Given the description of an element on the screen output the (x, y) to click on. 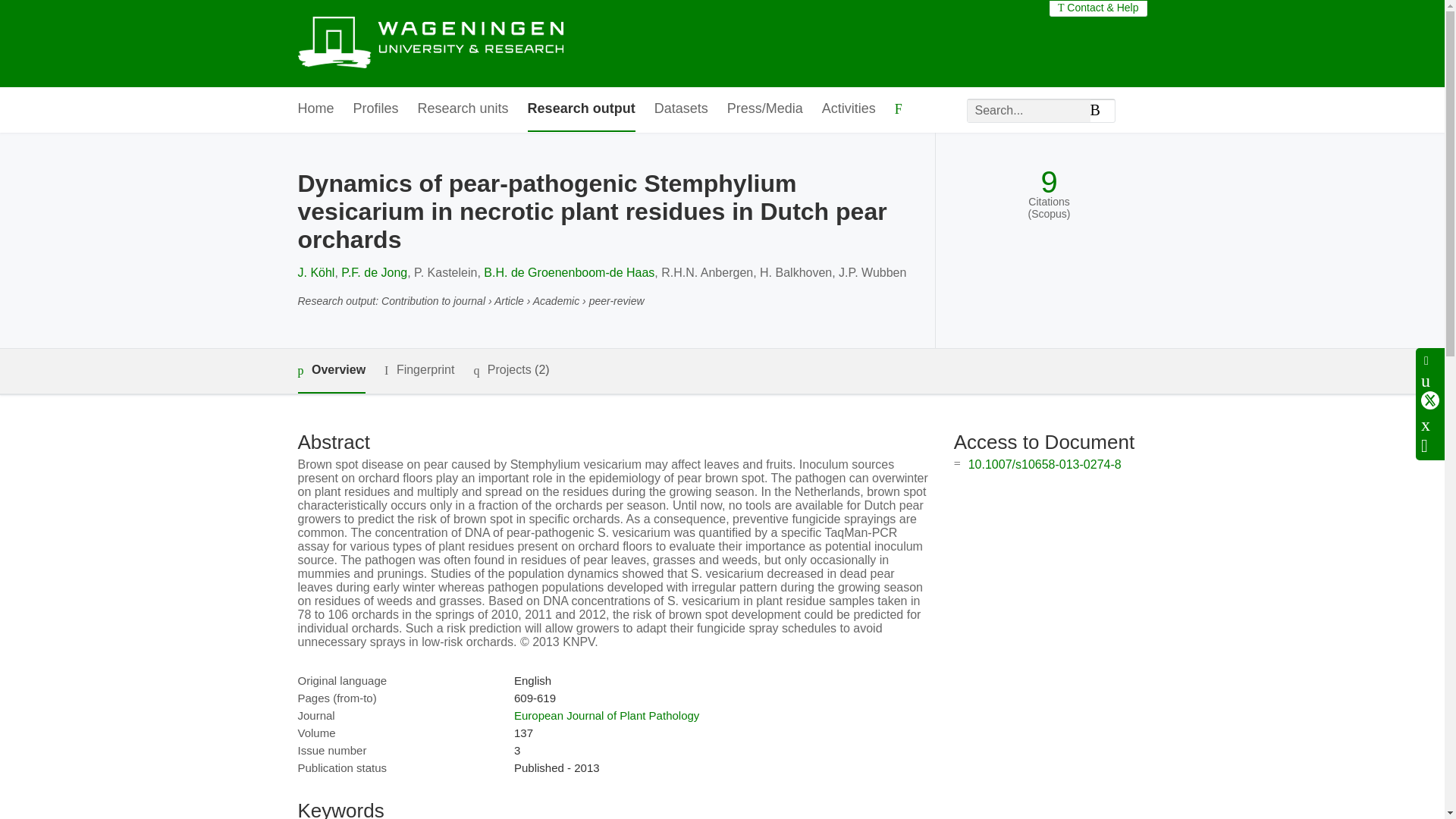
B.H. de Groenenboom-de Haas (568, 272)
P.F. de Jong (373, 272)
Fingerprint (419, 370)
Profiles (375, 108)
European Journal of Plant Pathology (605, 715)
Research units (462, 108)
Overview (331, 370)
Activities (849, 108)
Research output (580, 108)
Datasets (680, 108)
